Given the description of an element on the screen output the (x, y) to click on. 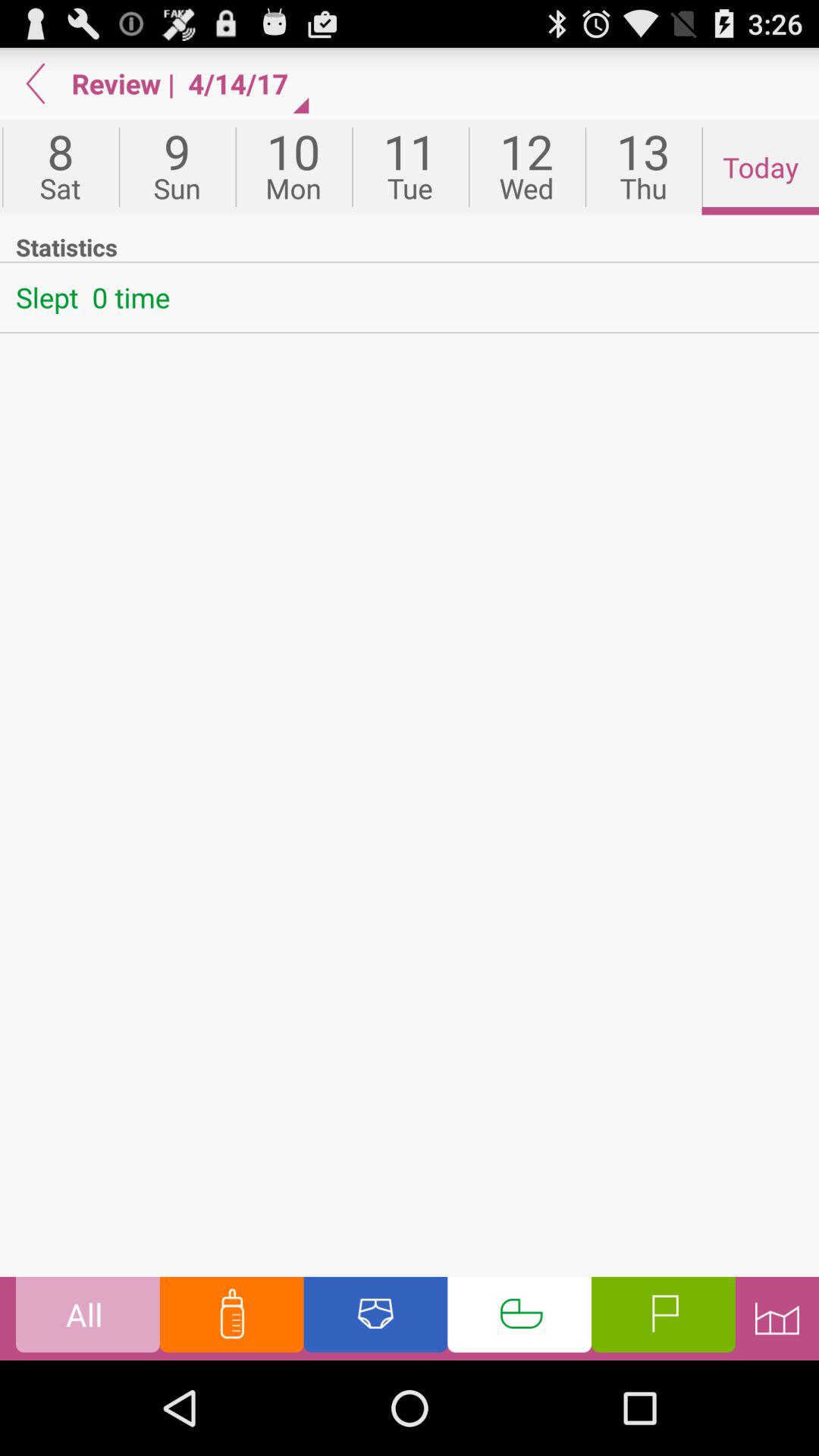
go back (35, 83)
